Given the description of an element on the screen output the (x, y) to click on. 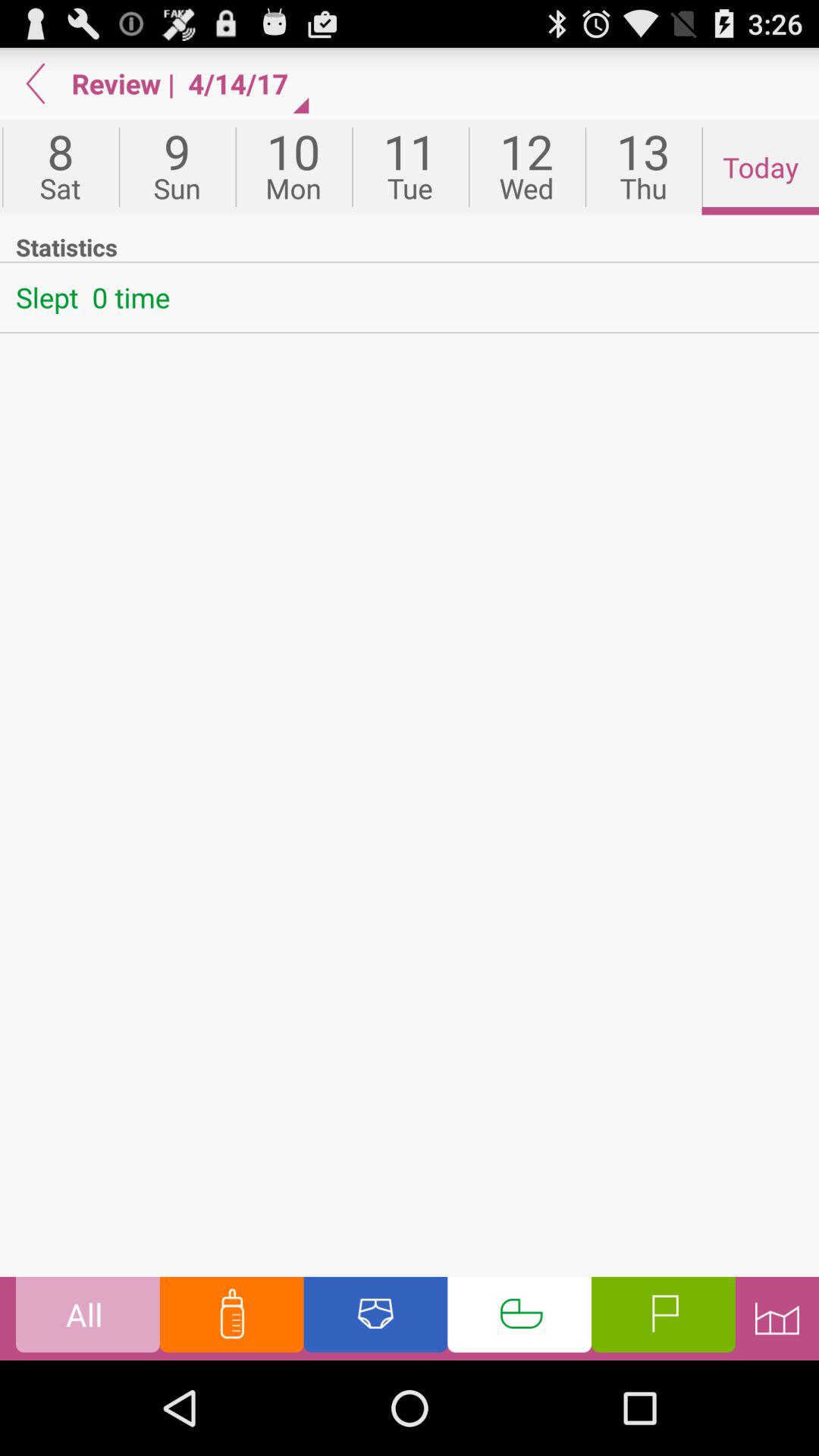
go back (35, 83)
